Given the description of an element on the screen output the (x, y) to click on. 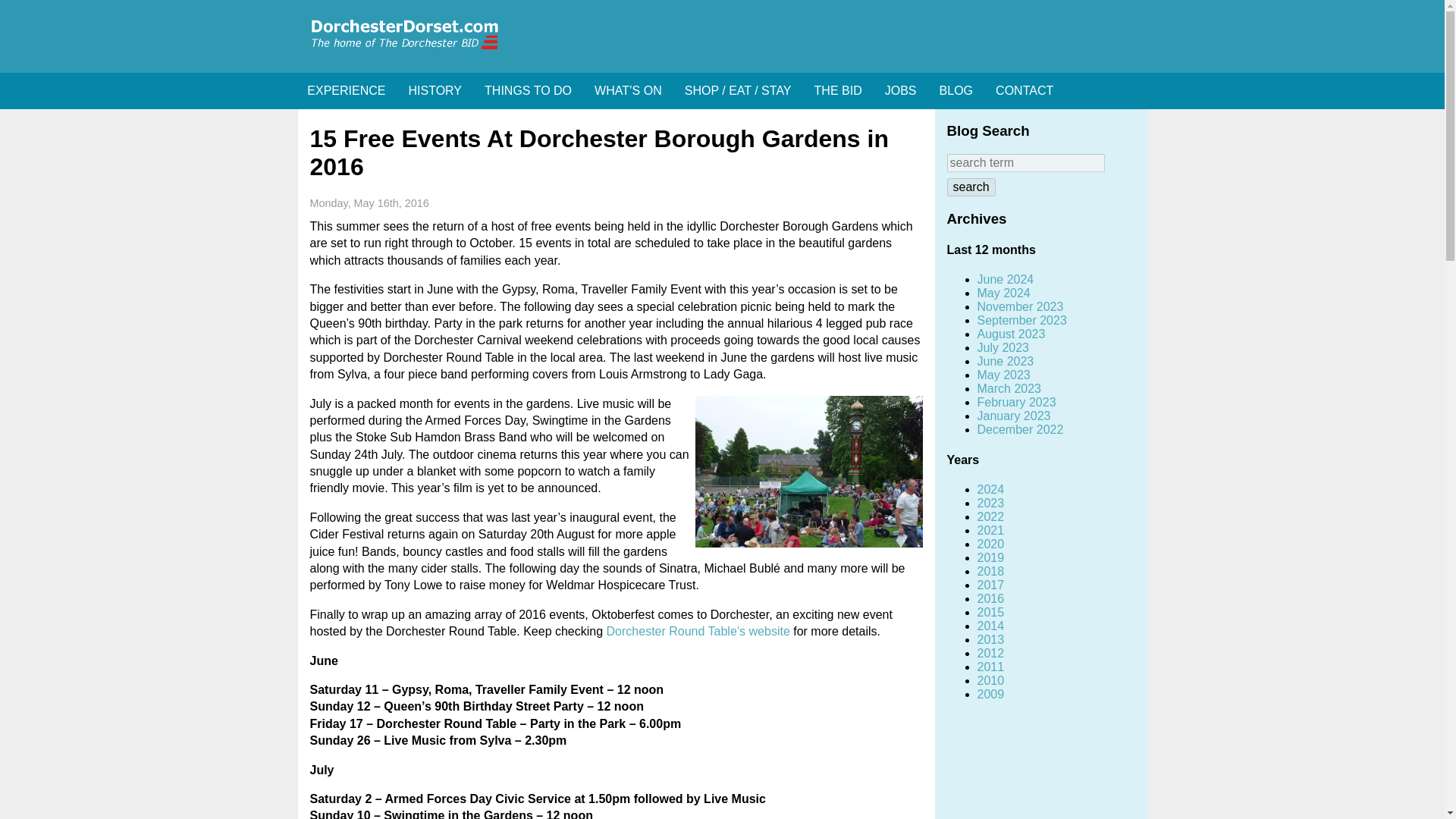
search (970, 187)
